Given the description of an element on the screen output the (x, y) to click on. 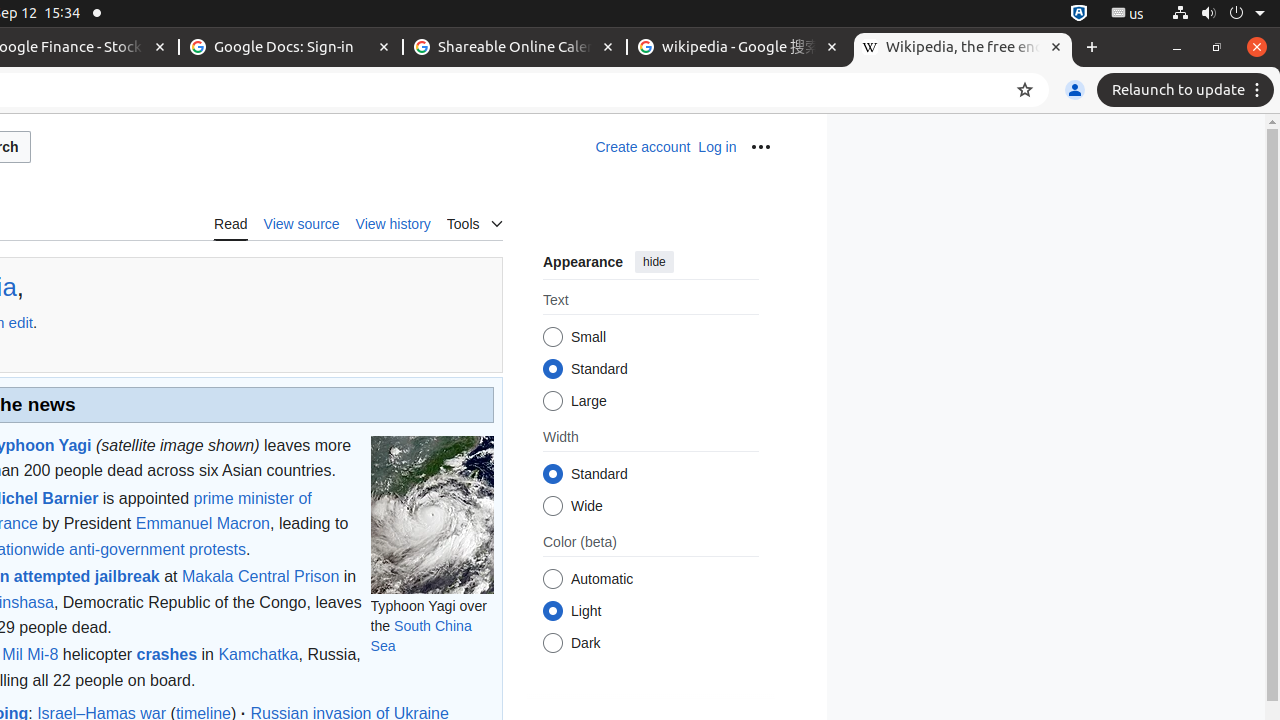
View history Element type: link (393, 223)
Wide Element type: radio-button (552, 506)
Makala Central Prison Element type: link (260, 576)
wikipedia - Google 搜索 - Memory usage - 90.0 MB Element type: page-tab (739, 47)
You Element type: push-button (1075, 90)
